Given the description of an element on the screen output the (x, y) to click on. 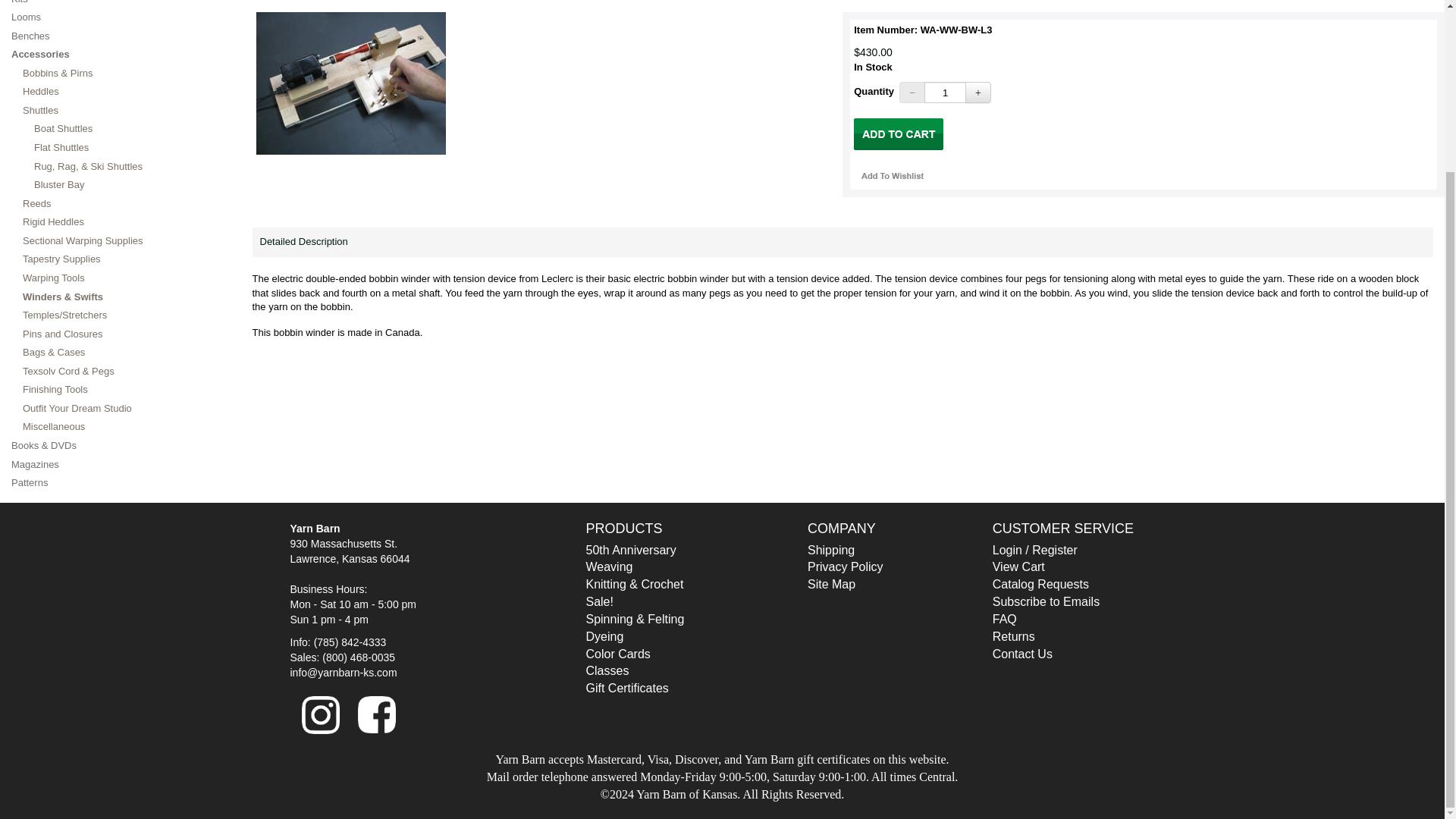
1 (945, 92)
cart (898, 133)
wishlist (892, 175)
